Given the description of an element on the screen output the (x, y) to click on. 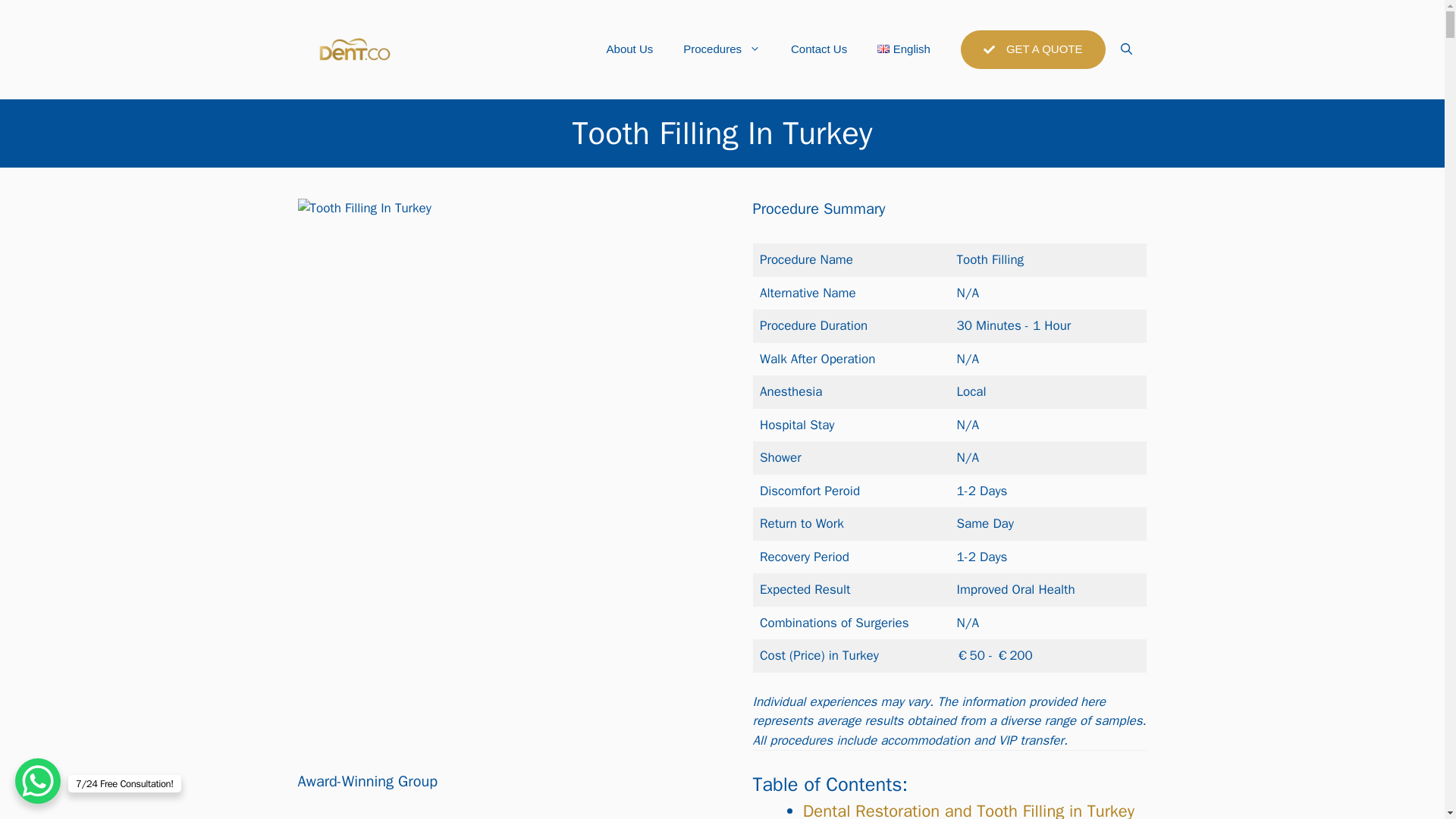
Tooth Filling In Turkey (363, 208)
GET A QUOTE (1032, 49)
Contact Us (818, 49)
Procedures (722, 49)
About Us (629, 49)
English (902, 49)
Dental Restoration and Tooth Filling in Turkey (968, 809)
